Given the description of an element on the screen output the (x, y) to click on. 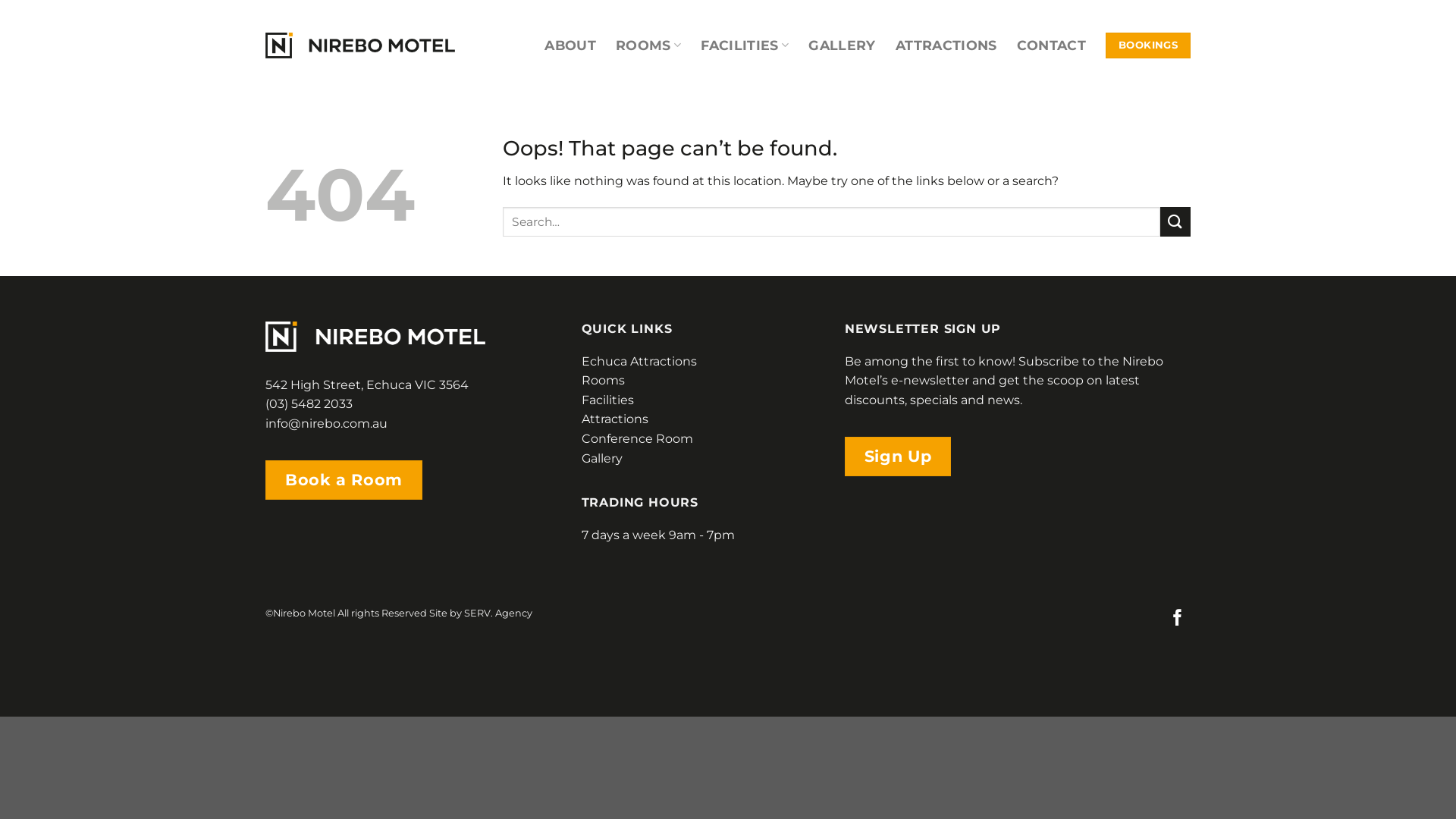
Rooms Element type: text (602, 380)
ROOMS Element type: text (647, 44)
BOOKINGS Element type: text (1147, 45)
Gallery Element type: text (601, 458)
Nirebo Motel - My WordPress Blog Element type: hover (360, 45)
Follow on Facebook Element type: hover (1177, 618)
Attractions Element type: text (614, 418)
FACILITIES Element type: text (744, 44)
ATTRACTIONS Element type: text (946, 45)
Sign Up Element type: text (897, 456)
Conference Room Element type: text (637, 438)
Book a Room Element type: text (343, 479)
SERV. Agency Element type: text (498, 612)
GALLERY Element type: text (841, 45)
Echuca Attractions Element type: text (638, 361)
CONTACT Element type: text (1050, 45)
ABOUT Element type: text (570, 45)
Facilities Element type: text (607, 399)
